Given the description of an element on the screen output the (x, y) to click on. 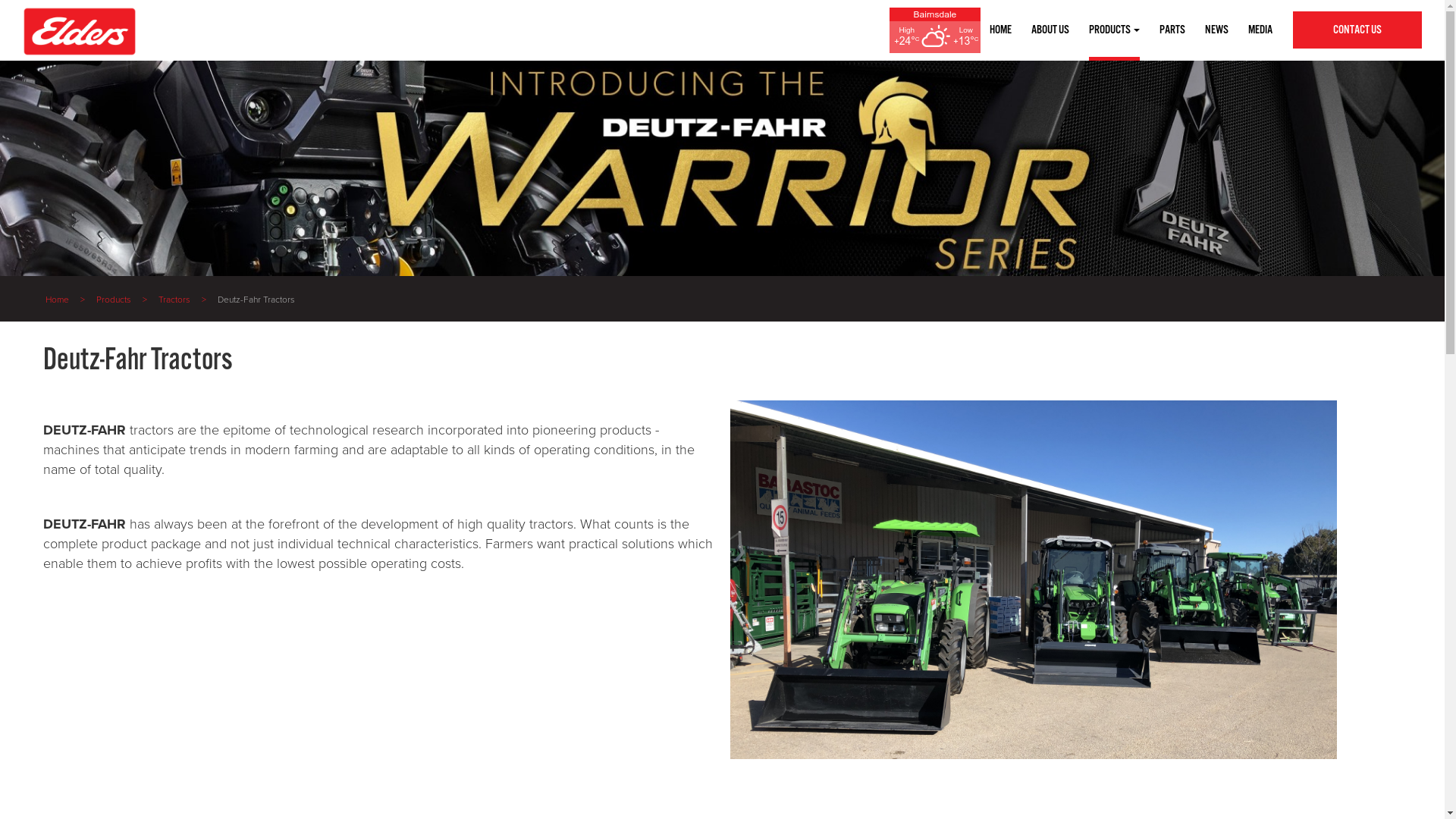
Deutz-Fahr Tractors Element type: text (261, 299)
Tractors Element type: text (179, 299)
Home Element type: text (62, 299)
MEDIA Element type: text (1260, 30)
NEWS Element type: text (1216, 30)
HOME Element type: text (1000, 30)
CONTACT US Element type: text (1356, 29)
ABOUT US Element type: text (1050, 30)
Products Element type: text (119, 299)
PRODUCTS Element type: text (1113, 30)
PARTS Element type: text (1172, 30)
